Given the description of an element on the screen output the (x, y) to click on. 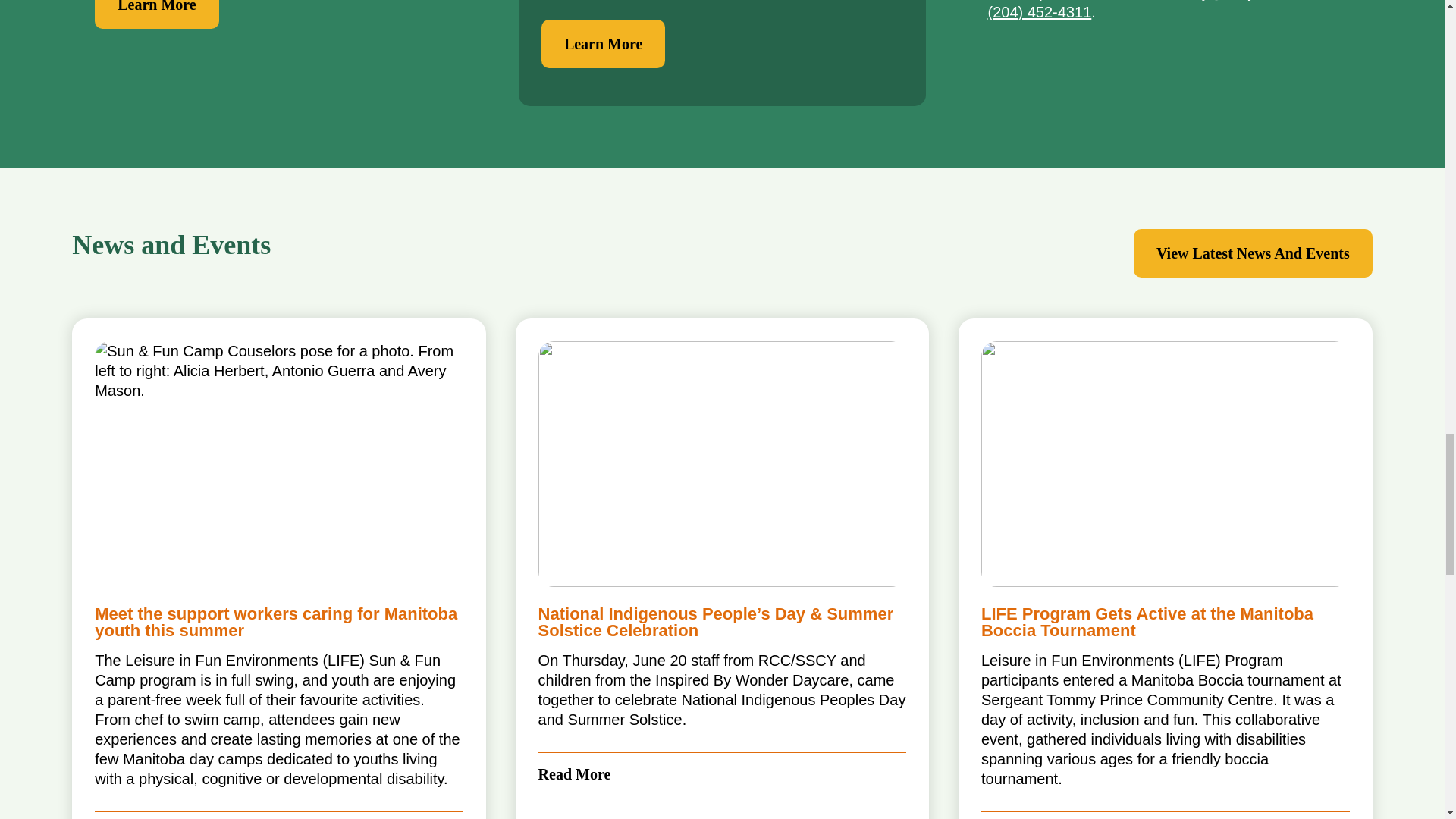
View Latest News And Events (1253, 253)
Learn More (156, 14)
Learn More (603, 43)
